Given the description of an element on the screen output the (x, y) to click on. 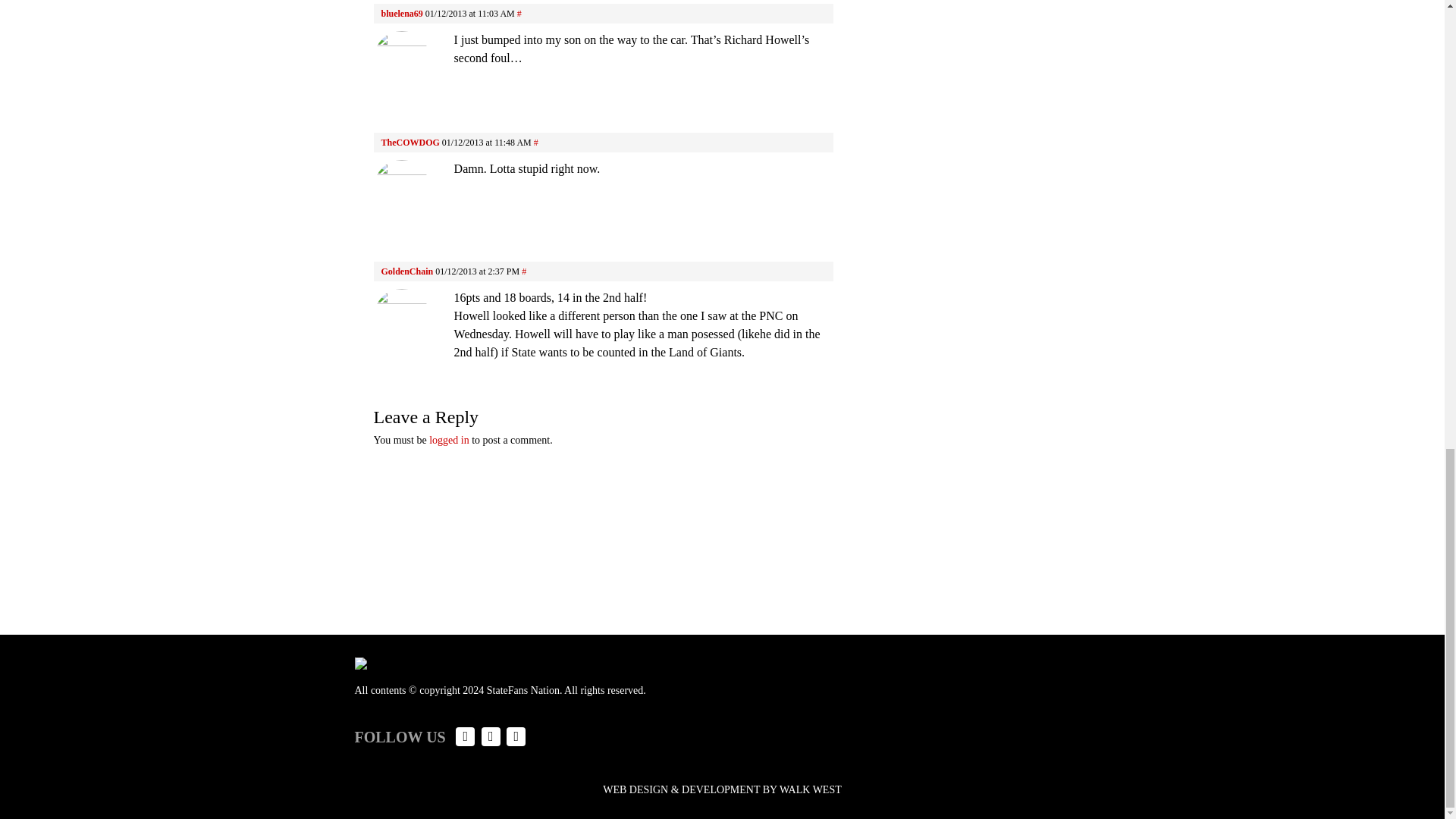
bluelena69 (401, 13)
logged in (448, 439)
Raleigh Web Design (721, 789)
